Given the description of an element on the screen output the (x, y) to click on. 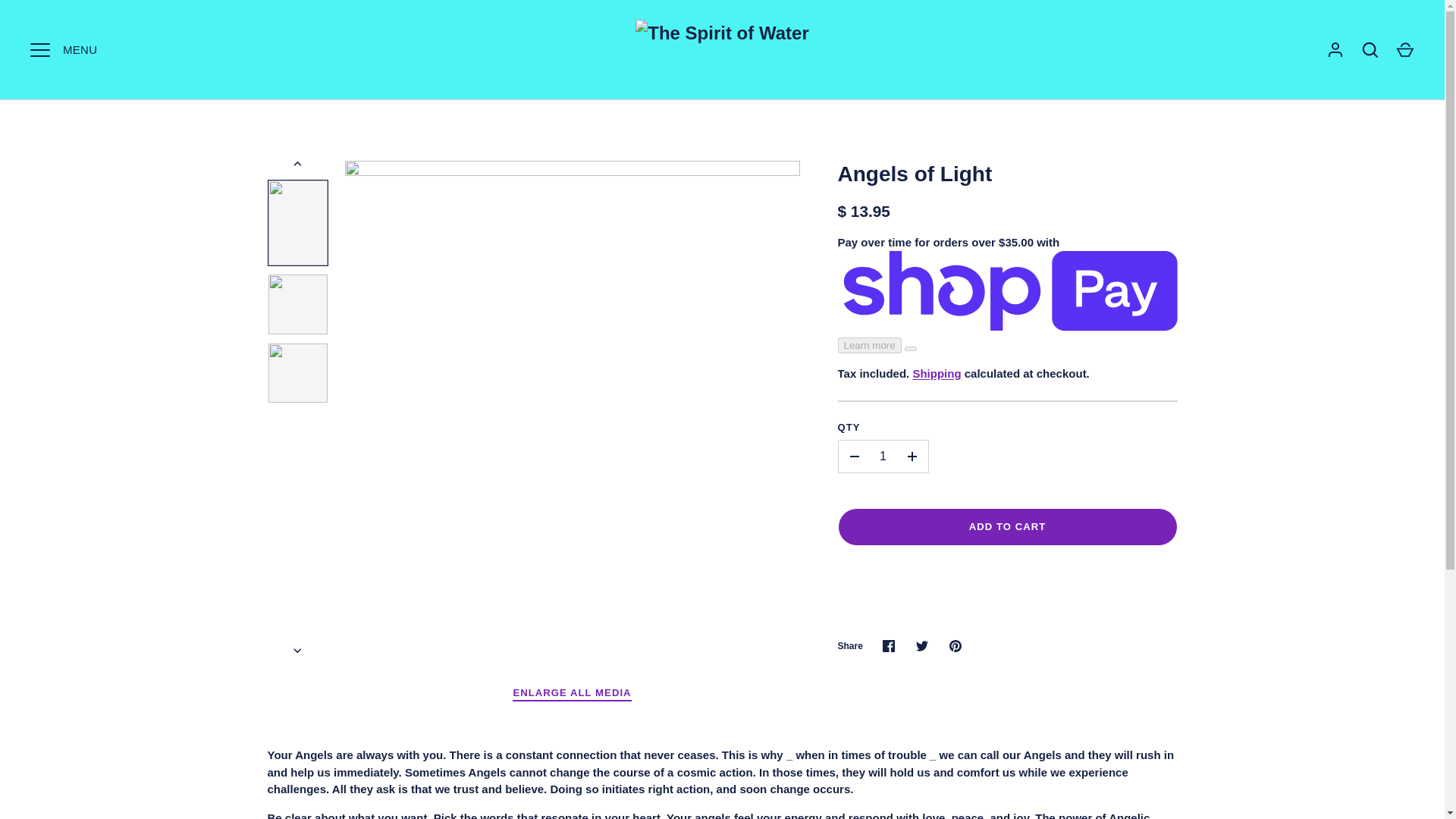
1 (883, 456)
